Given the description of an element on the screen output the (x, y) to click on. 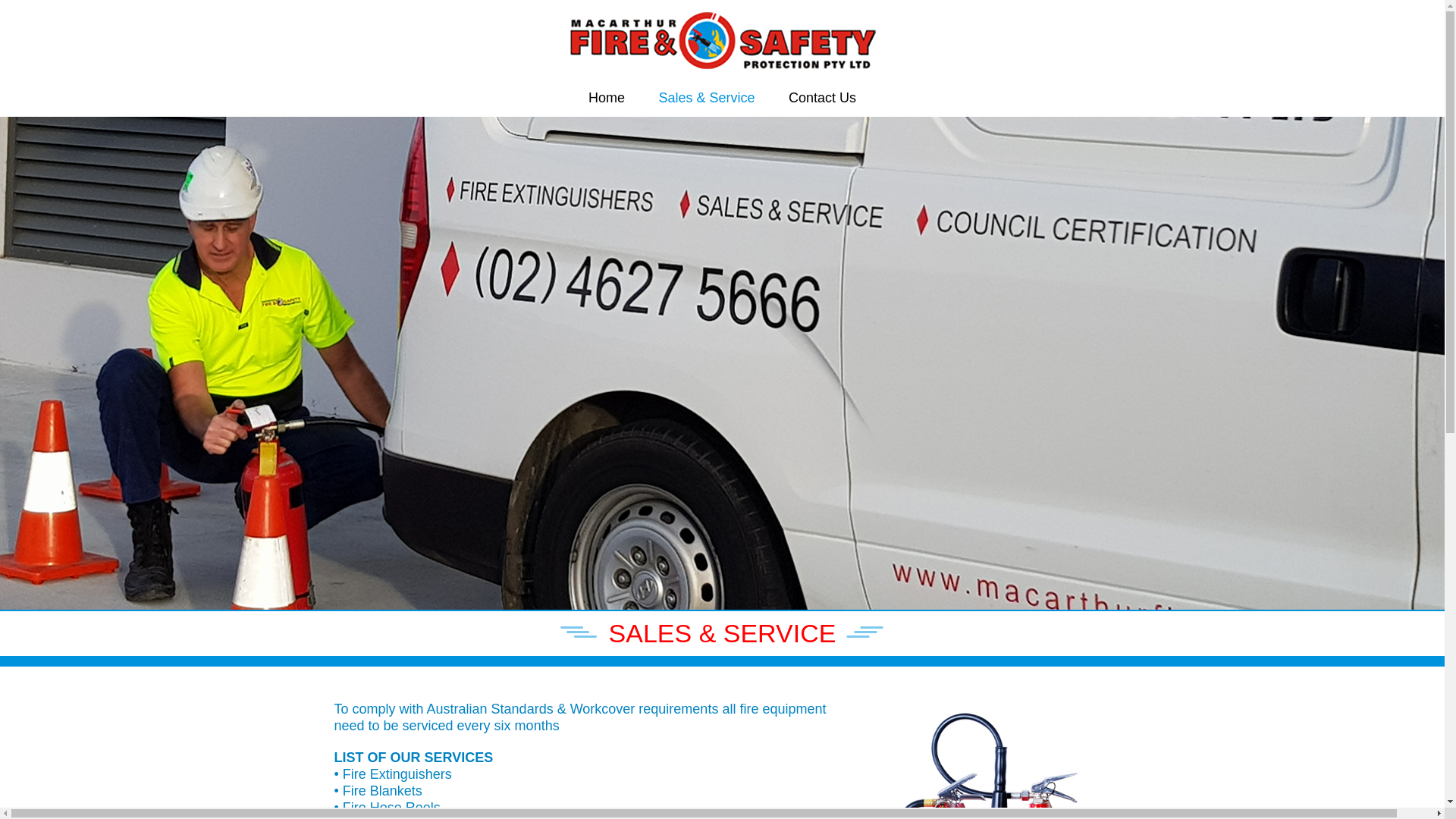
Sales & Service Element type: text (706, 98)
Contact Us Element type: text (822, 98)
Home Element type: text (606, 98)
